Given the description of an element on the screen output the (x, y) to click on. 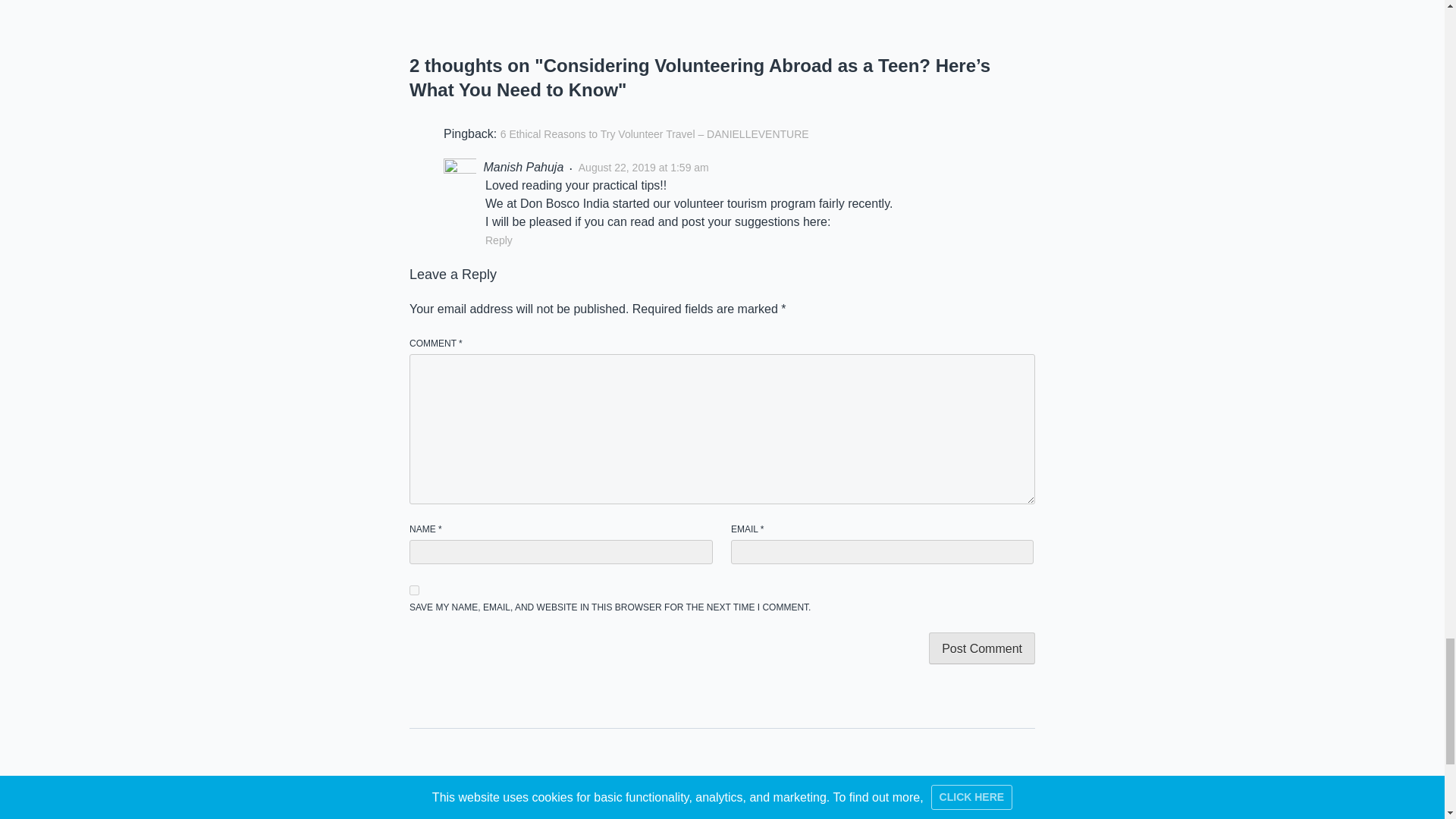
yes (414, 590)
Post Comment (981, 648)
